Given the description of an element on the screen output the (x, y) to click on. 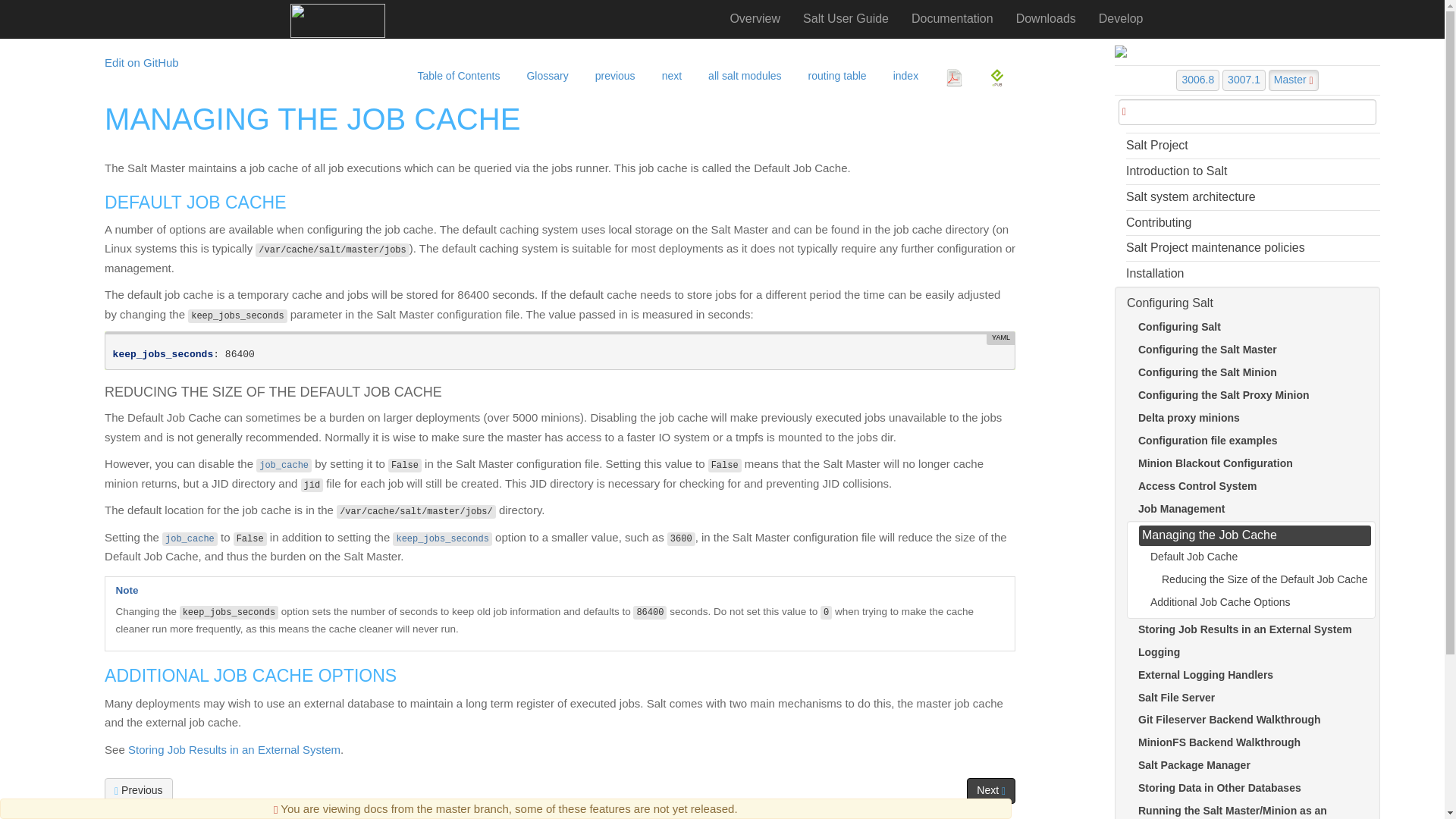
Salt system architecture (1252, 196)
Edit on GitHub (141, 62)
Job Management (612, 71)
Introduction to Salt (1252, 171)
Storing Job Results in an External System (234, 748)
Table of Contents (456, 71)
Glossary (545, 71)
Next (990, 790)
Storing Job Results in an External System (669, 71)
index (903, 71)
HTTP Routing Table (835, 71)
Salt Module Index (743, 71)
Downloads (1045, 18)
Master (1293, 79)
Glossary (545, 71)
